Given the description of an element on the screen output the (x, y) to click on. 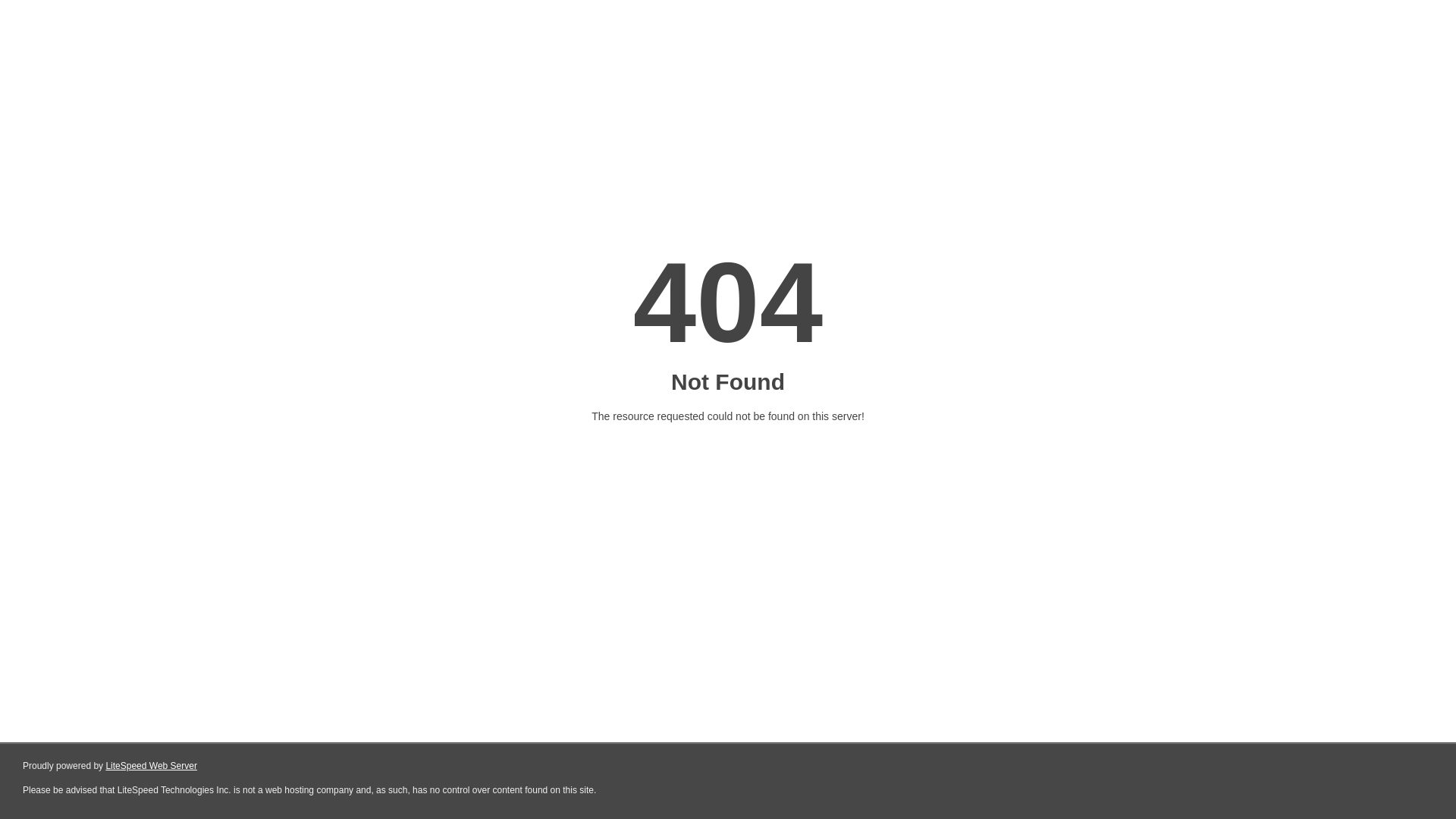
LiteSpeed Web Server Element type: text (151, 765)
